Given the description of an element on the screen output the (x, y) to click on. 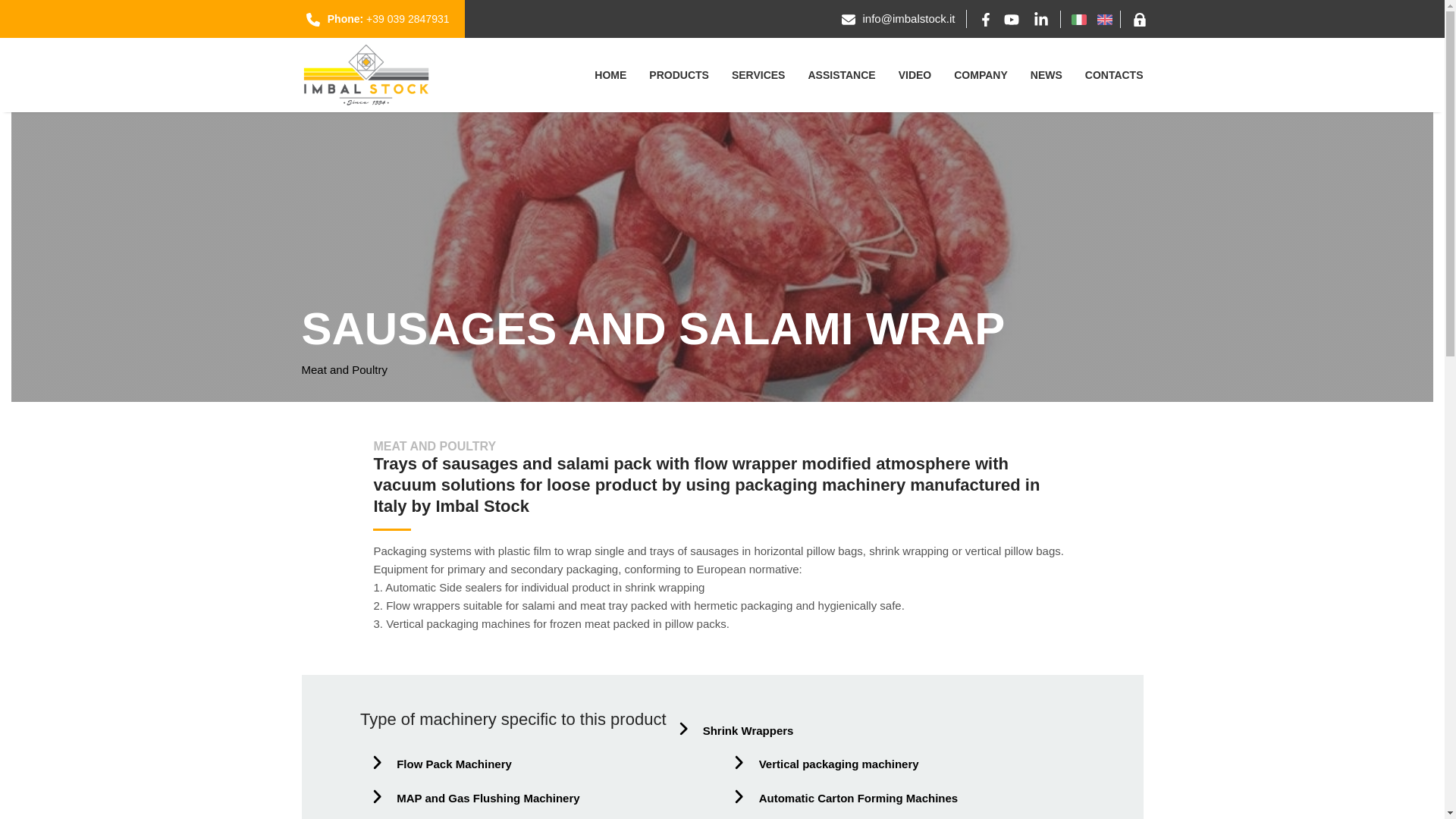
Home (610, 75)
Imbal Stock - Facebook (985, 18)
eng (1104, 18)
PRODUCTS (678, 75)
HOME (610, 75)
Imbal Stock - Linkedin (1040, 18)
Imbal Stock - Youtube (1011, 18)
area riservata Imbal Stock (1139, 18)
mail (909, 18)
Products (678, 75)
ita (1078, 18)
